Given the description of an element on the screen output the (x, y) to click on. 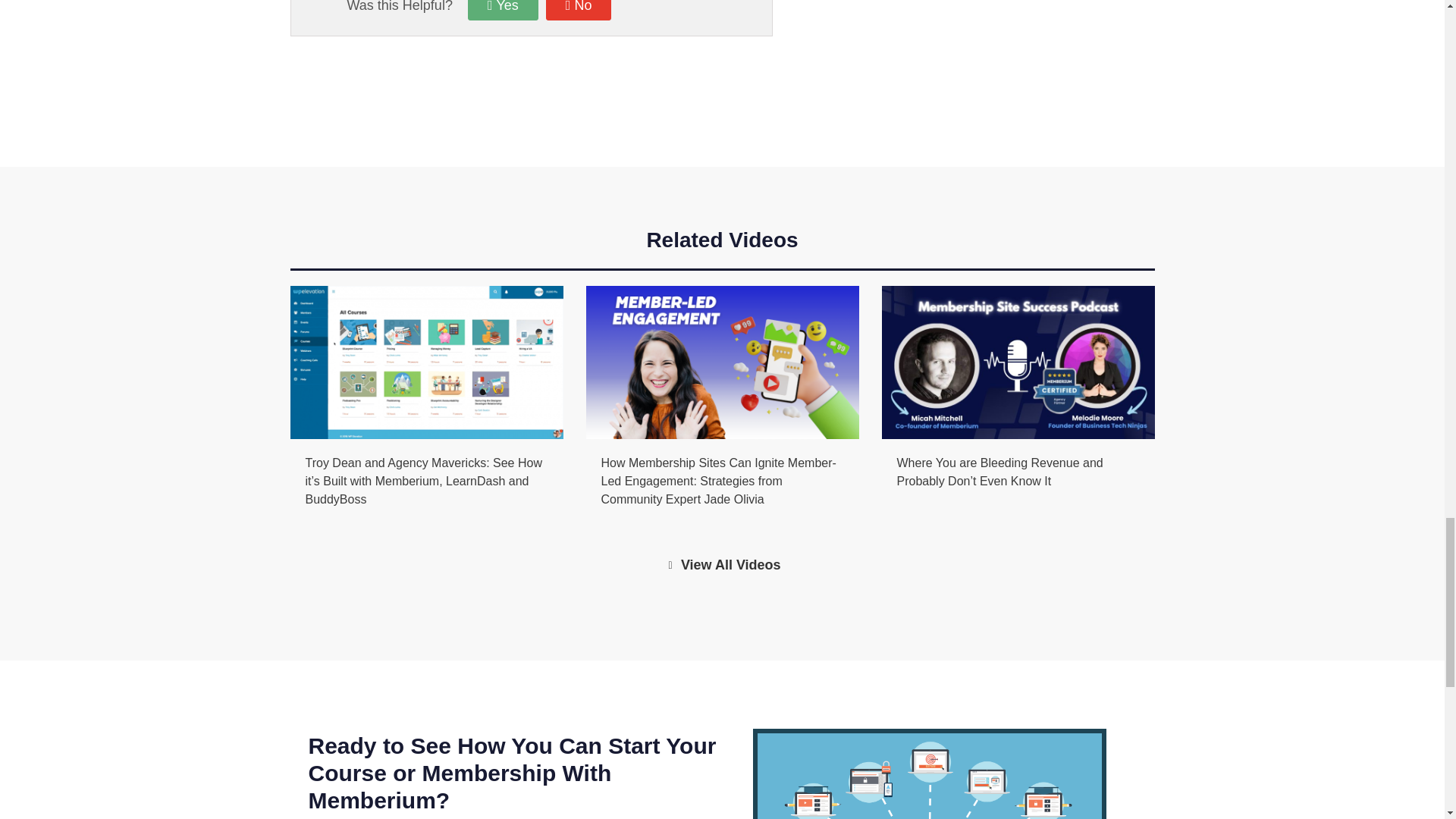
No (578, 10)
View All Videos (721, 565)
Yes (502, 10)
